Given the description of an element on the screen output the (x, y) to click on. 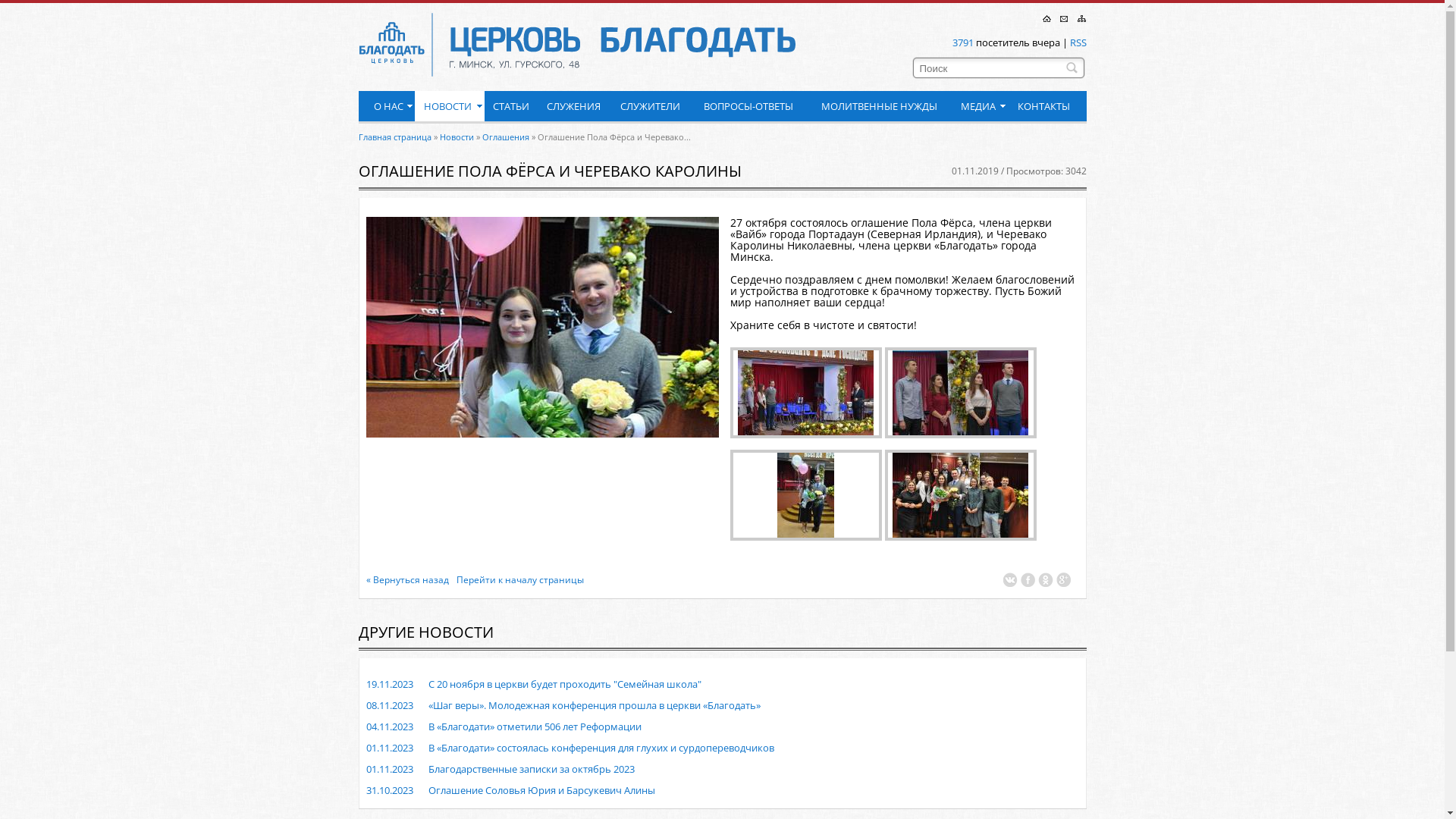
  Element type: text (504, 633)
RSS Element type: text (1077, 42)
